Given the description of an element on the screen output the (x, y) to click on. 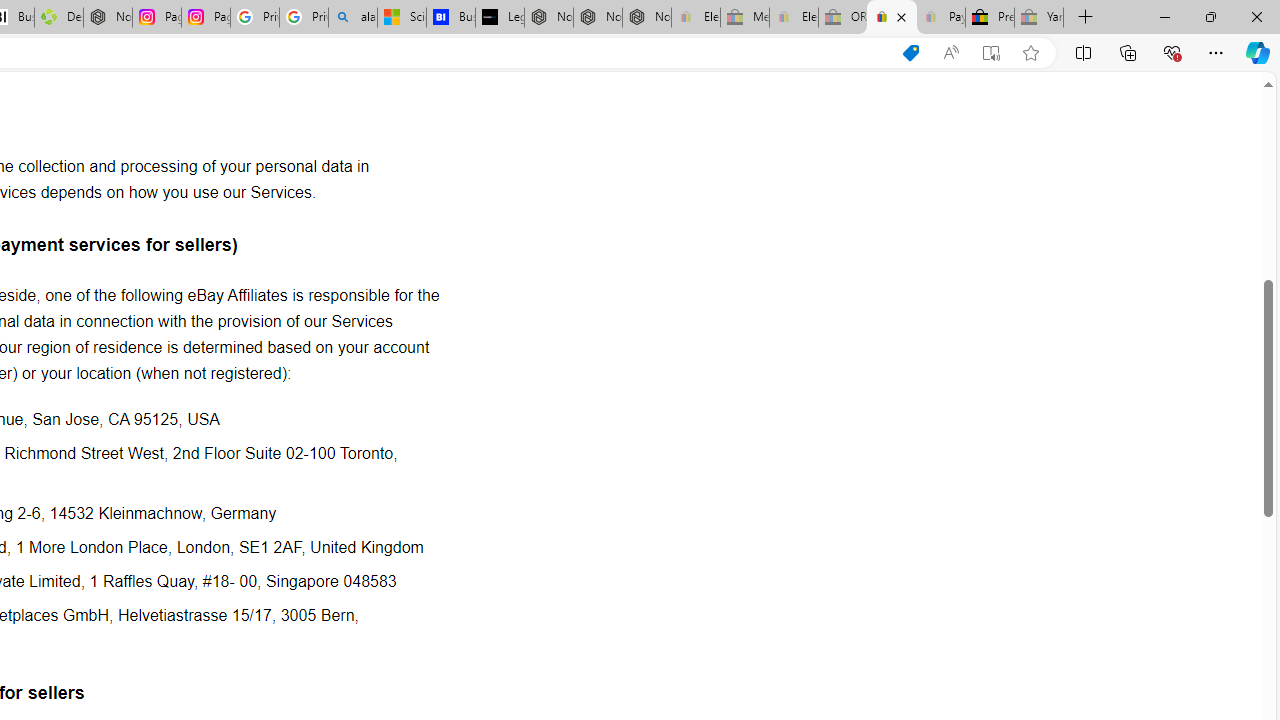
This site has coupons! Shopping in Microsoft Edge (910, 53)
alabama high school quarterback dies - Search (353, 17)
Yard, Garden & Outdoor Living - Sleeping (1039, 17)
Enter Immersive Reader (F9) (991, 53)
User Privacy Notice | eBay (891, 17)
